Given the description of an element on the screen output the (x, y) to click on. 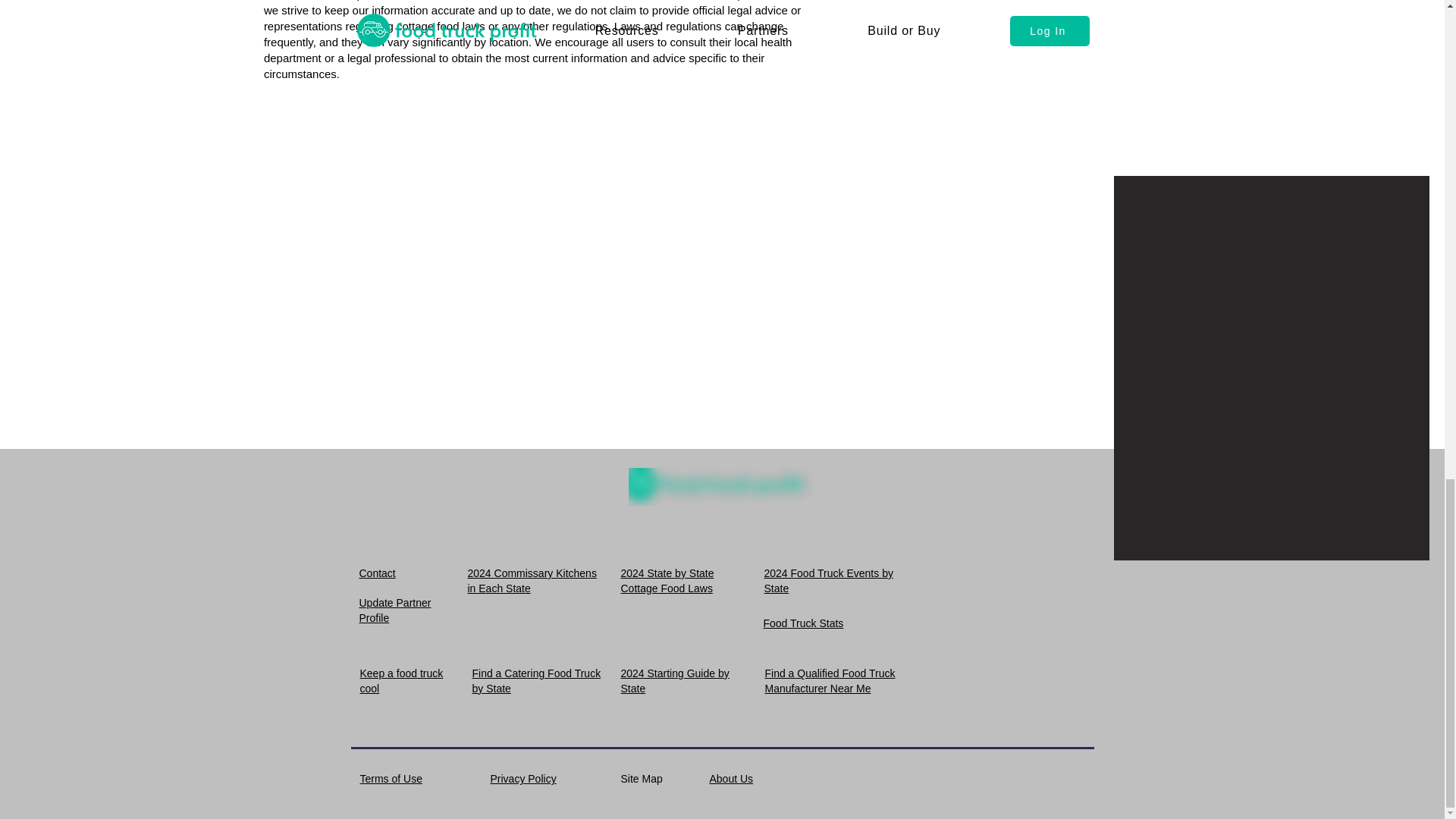
Food Truck Stats (802, 623)
Find a Qualified Food Truck Manufacturer Near Me (829, 680)
Privacy Policy (522, 778)
Find a Catering Food Truck by State (535, 680)
Terms of Use (390, 778)
2024 Starting Guide by State (674, 680)
Contact (377, 573)
About Us (732, 778)
2024 State by State Cottage Food Laws (666, 580)
2024 Commissary Kitchens in Each State (531, 580)
Keep a food truck cool (400, 680)
Update Partner Profile (394, 610)
2024 Food Truck Events by State (828, 580)
